Given the description of an element on the screen output the (x, y) to click on. 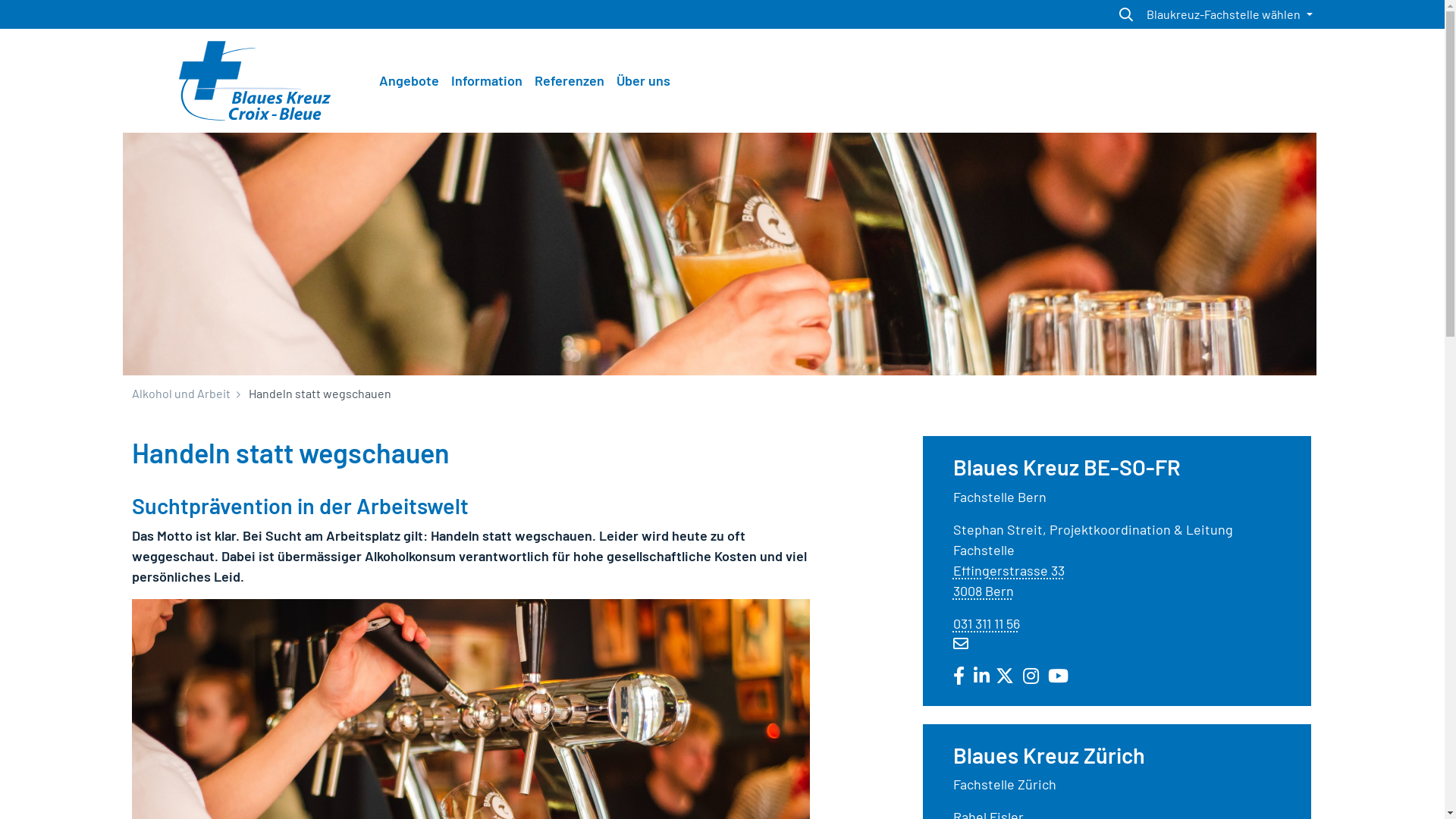
Angebote Element type: text (409, 80)
031 311 11 56 Element type: text (986, 623)
Information Element type: text (485, 80)
Alkohol und Arbeit Element type: text (180, 392)
Effingerstrasse 33
3008 Bern Element type: text (1008, 580)
Referenzen Element type: text (568, 80)
